Given the description of an element on the screen output the (x, y) to click on. 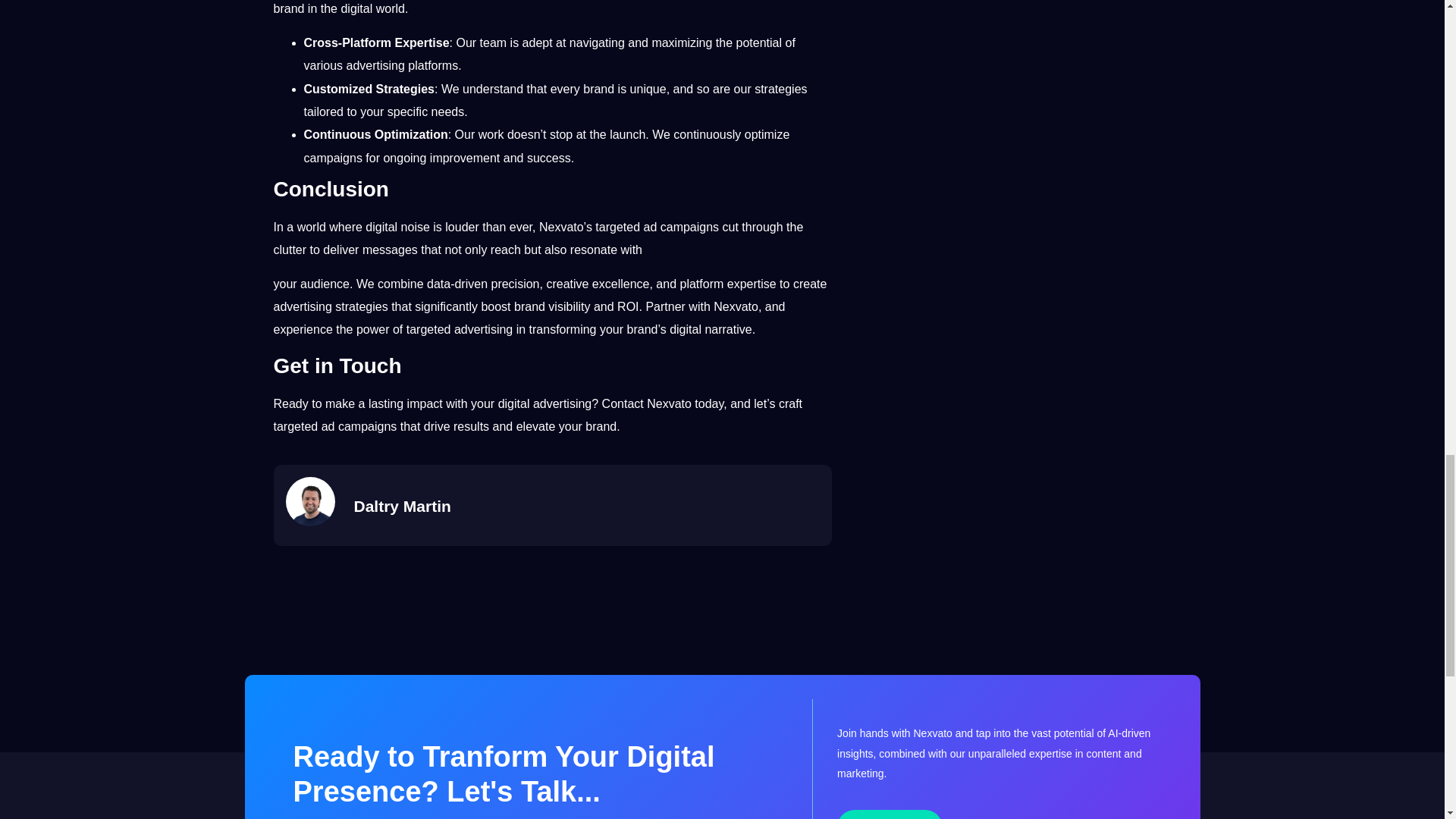
Nexvato  (670, 403)
but (534, 249)
Nexvato (670, 403)
